Given the description of an element on the screen output the (x, y) to click on. 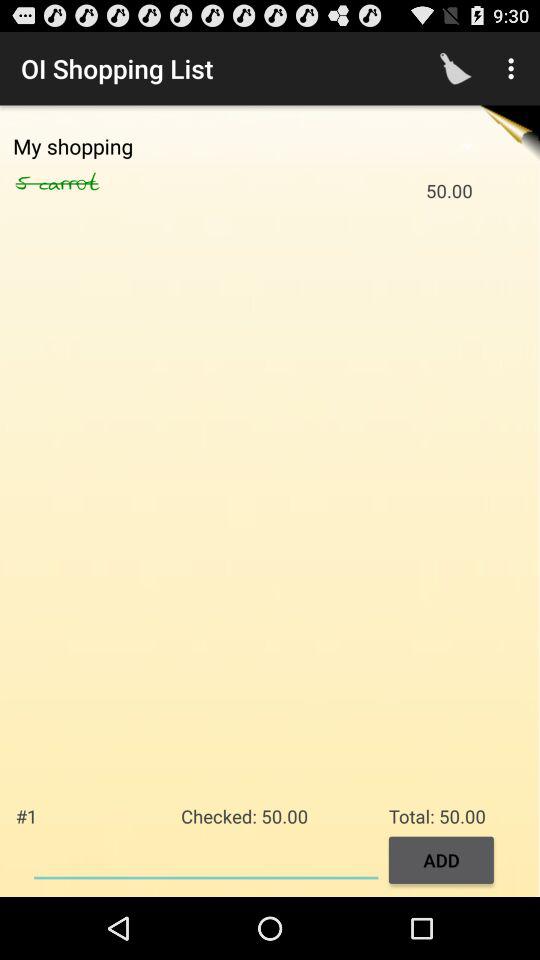
launch the 5  app (27, 183)
